Given the description of an element on the screen output the (x, y) to click on. 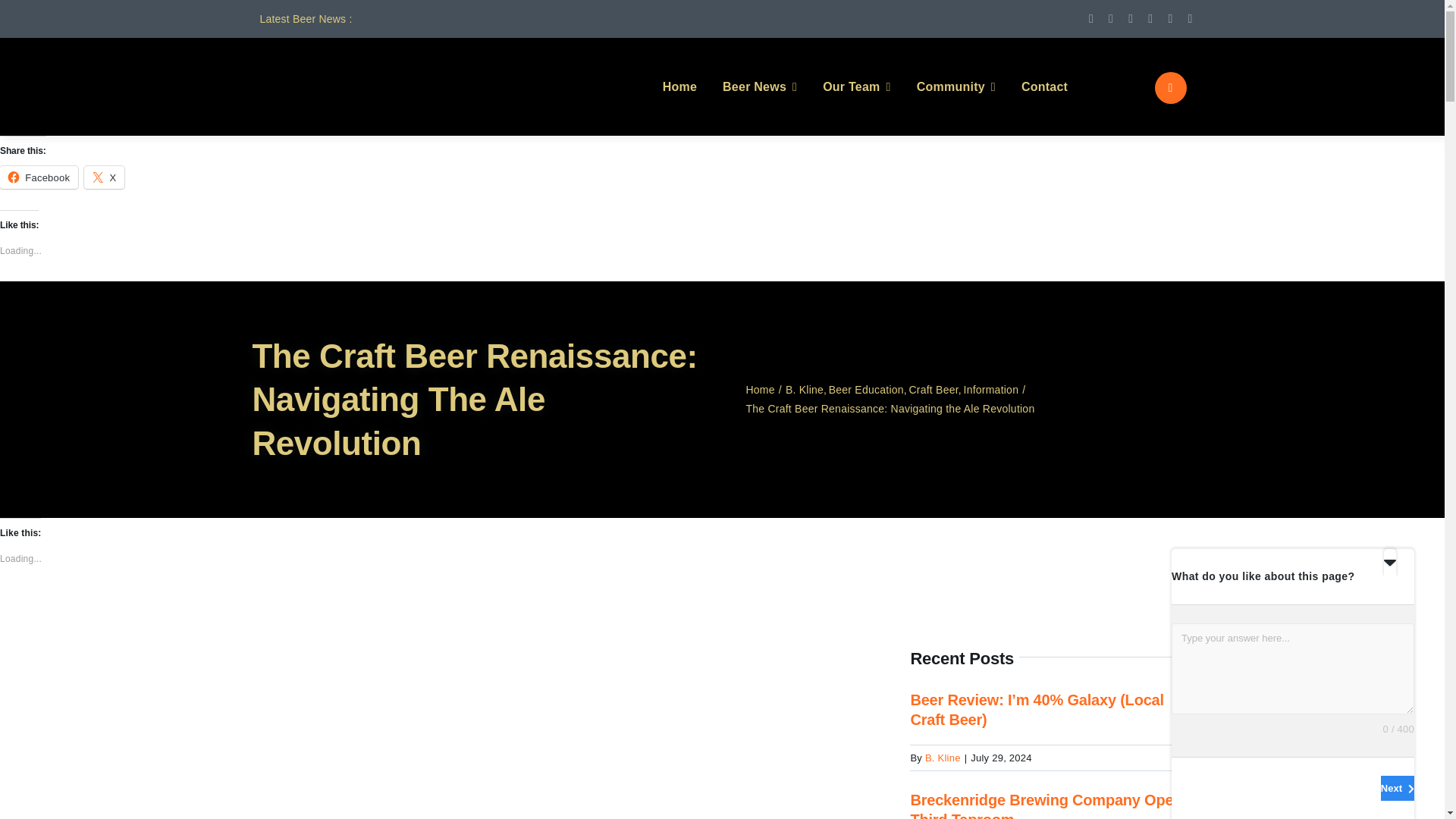
Beer News (759, 87)
Craft Beer on a Bar (557, 651)
Posts by B. Kline (942, 757)
Click to share on Facebook (39, 177)
Click to share on X (103, 177)
